Given the description of an element on the screen output the (x, y) to click on. 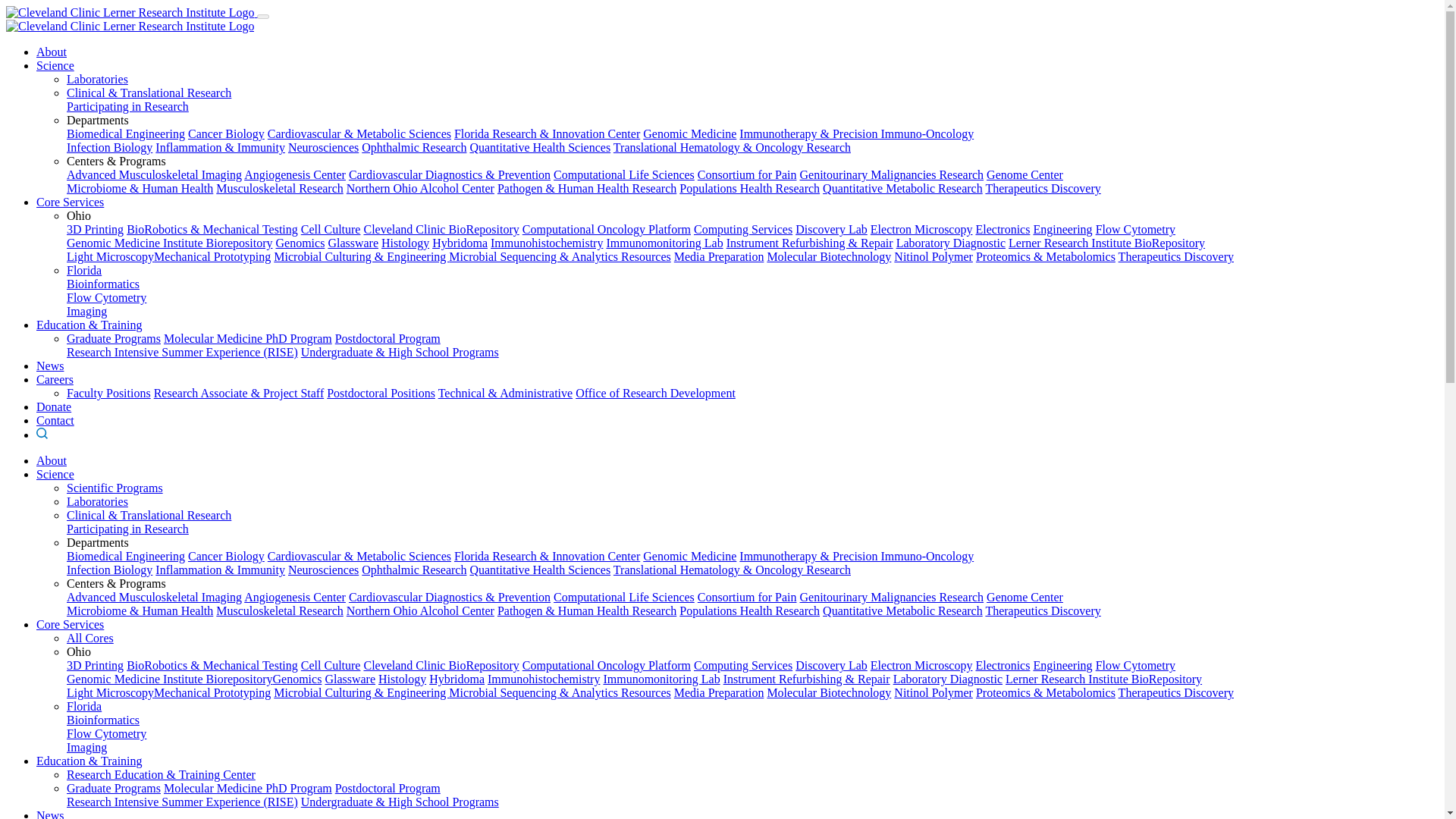
Populations Health Research (749, 187)
Angiogenesis Center (295, 174)
3D Printing (94, 228)
Quantitative Metabolic Research (902, 187)
Core Services (69, 201)
Ophthalmic Research (413, 146)
Laboratories (97, 78)
Cleveland Clinic Lerner Research Institute (129, 12)
Cancer Biology (225, 133)
Infection Biology (109, 146)
Cleveland Clinic Lerner Research Institute (129, 26)
Biomedical Engineering (125, 133)
Therapeutics Discovery (1042, 187)
Musculoskeletal Research (279, 187)
Neurosciences (323, 146)
